Given the description of an element on the screen output the (x, y) to click on. 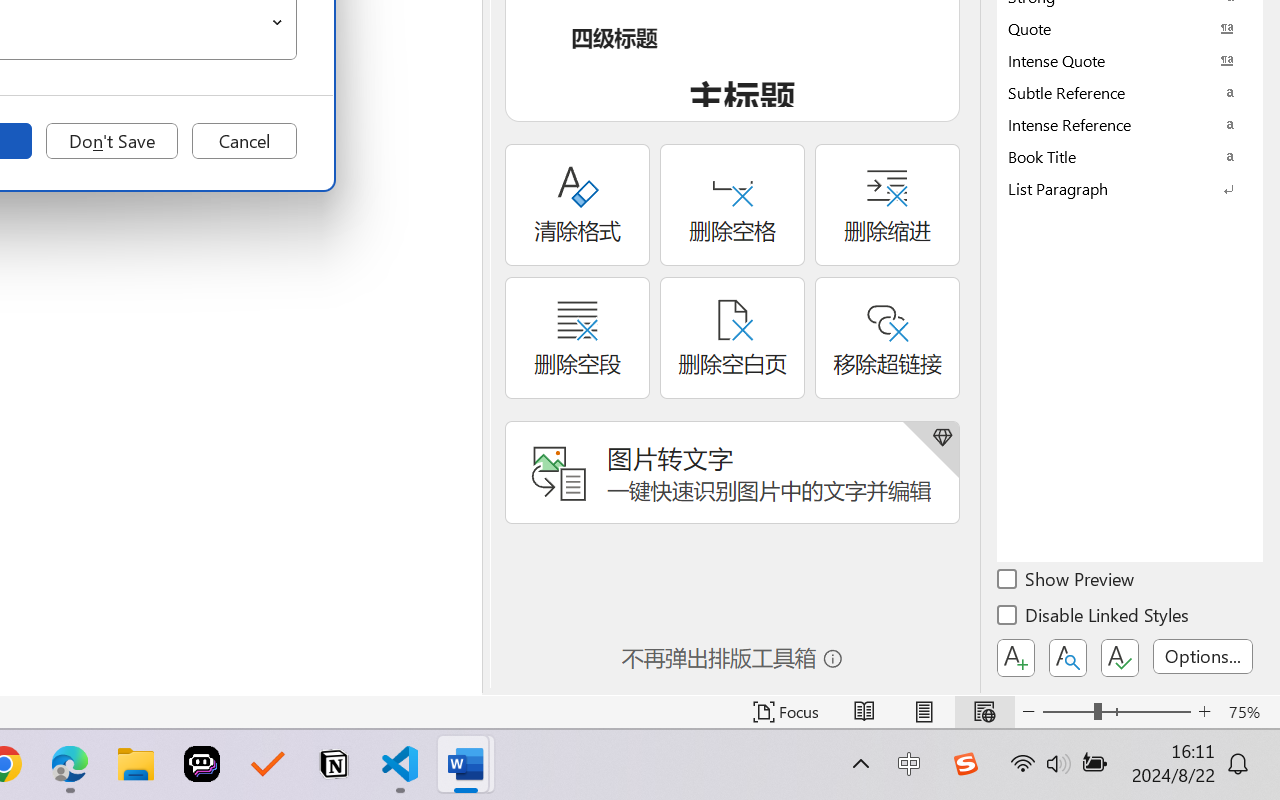
Intense Reference (1130, 124)
Class: NetUIImage (1116, 188)
Class: NetUIButton (1119, 657)
Zoom (1116, 712)
Options... (1203, 656)
Don't Save (111, 141)
Book Title (1130, 156)
